Given the description of an element on the screen output the (x, y) to click on. 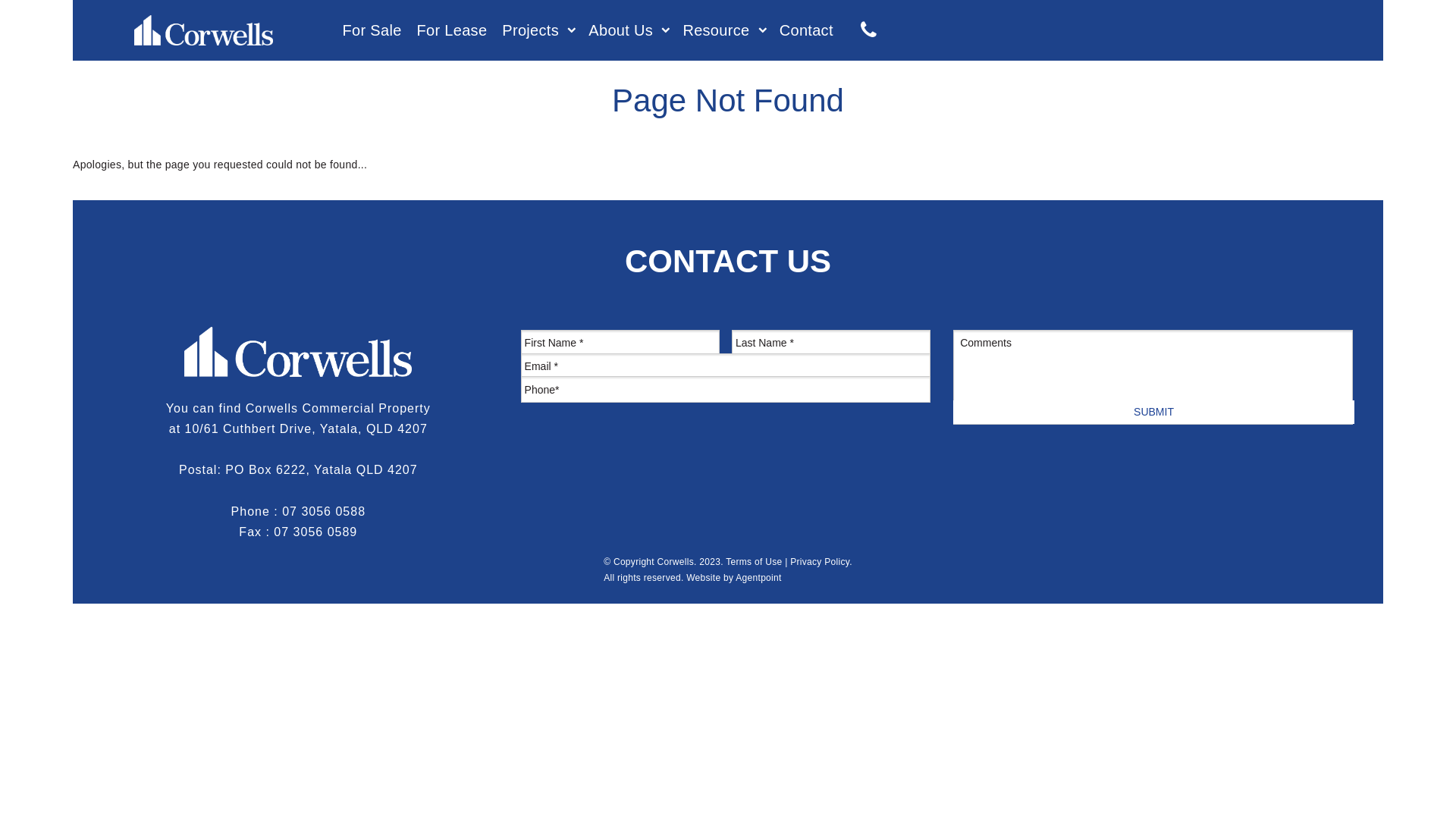
Projects Element type: text (530, 30)
Agentpoint Element type: text (758, 577)
Resource Element type: text (715, 30)
07 3056 0588 Element type: text (323, 511)
For Lease Element type: text (452, 30)
Submit Element type: text (1153, 412)
Contact Element type: text (805, 30)
Terms of Use Element type: text (753, 561)
About Us Element type: text (620, 30)
Privacy Policy Element type: text (819, 561)
For Sale Element type: text (372, 30)
